Given the description of an element on the screen output the (x, y) to click on. 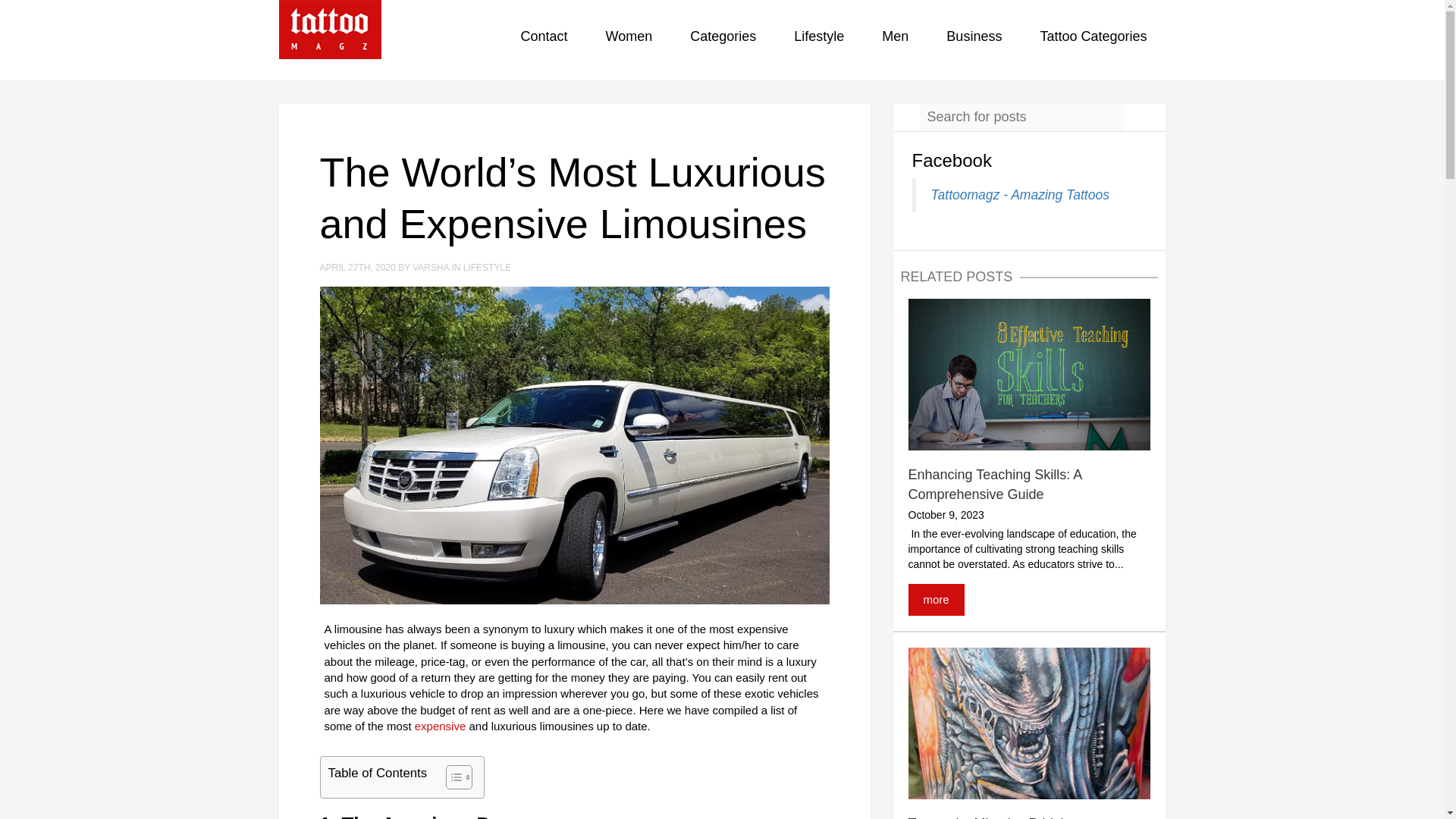
Women (628, 39)
Contact (544, 39)
LIFESTYLE (487, 267)
Lifestyle (819, 39)
APRIL 27TH, 2020 (359, 267)
Men (895, 39)
expensive (438, 725)
View all posts by varsha (431, 267)
4:14 am (359, 267)
VARSHA (431, 267)
